Given the description of an element on the screen output the (x, y) to click on. 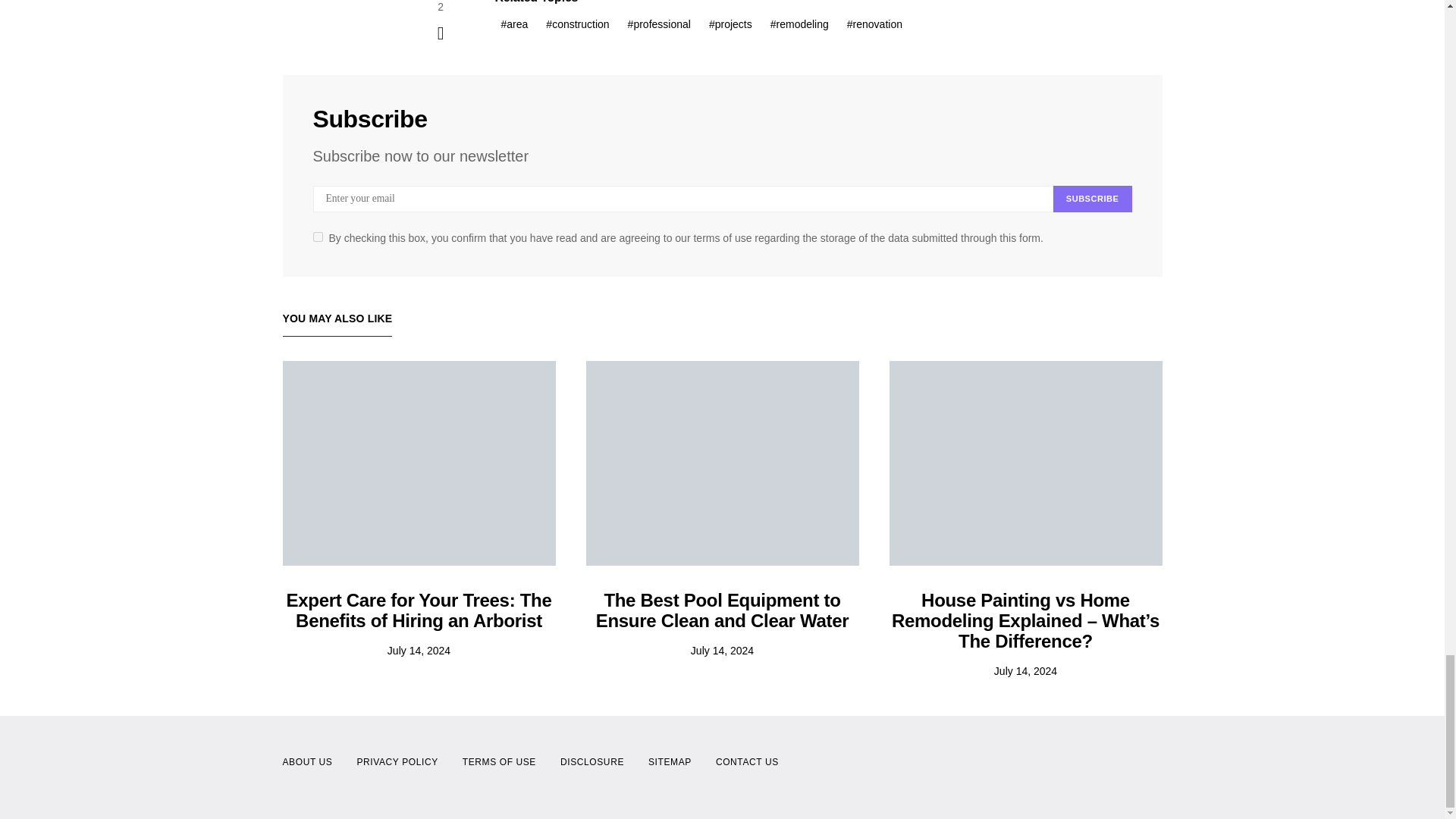
on (317, 236)
